Given the description of an element on the screen output the (x, y) to click on. 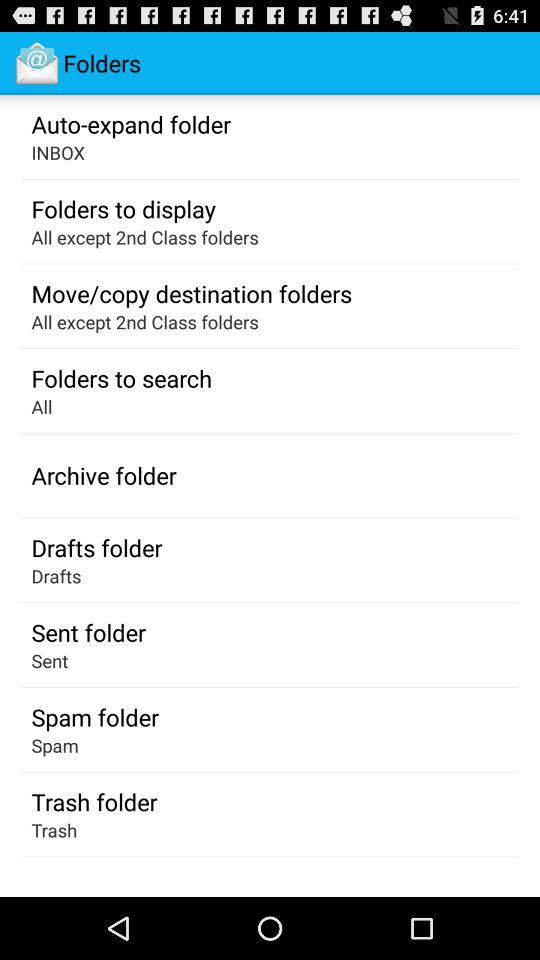
launch move copy destination app (191, 293)
